Given the description of an element on the screen output the (x, y) to click on. 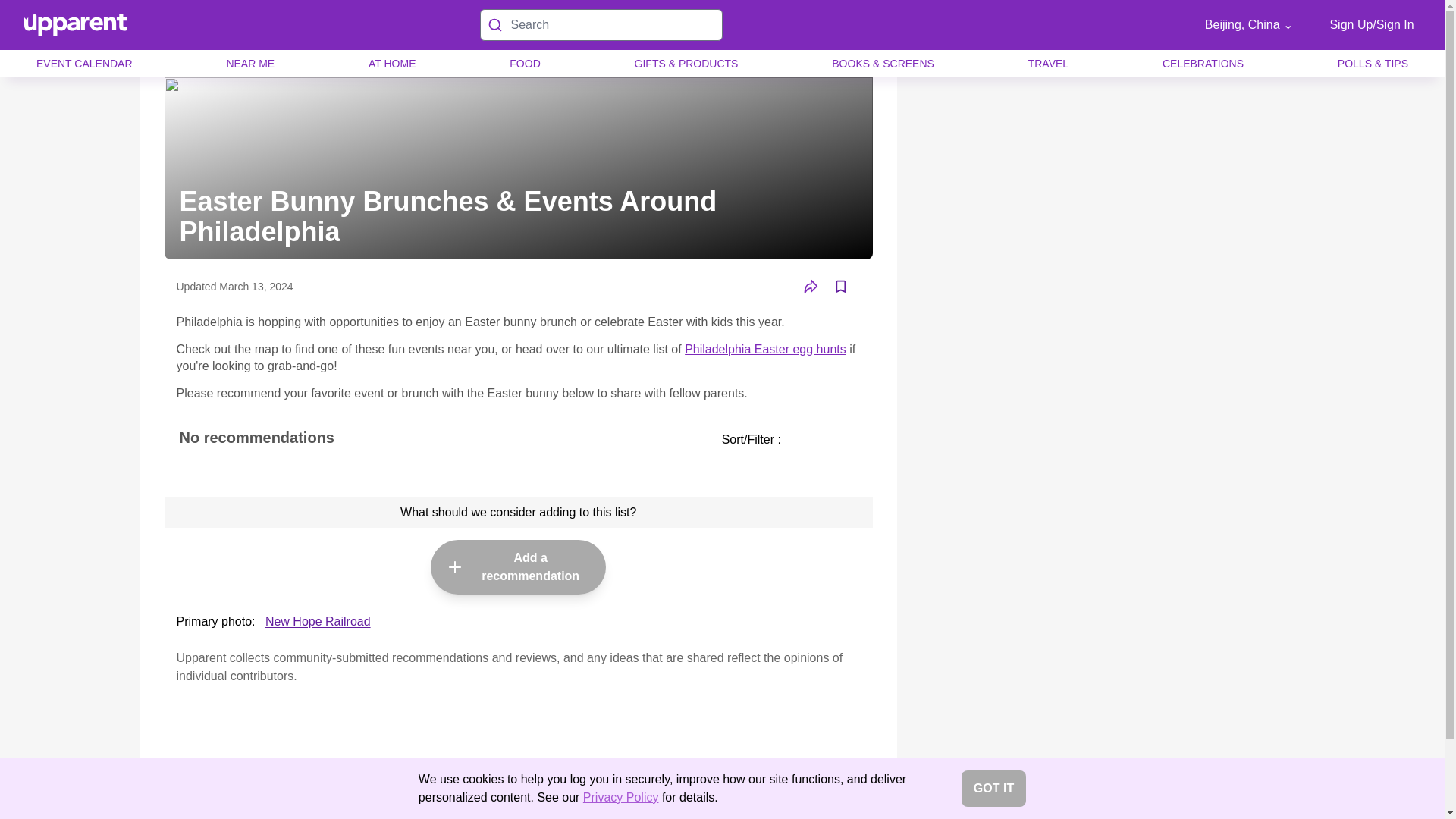
Beijing, China (1248, 24)
New Recommendation (454, 566)
